Given the description of an element on the screen output the (x, y) to click on. 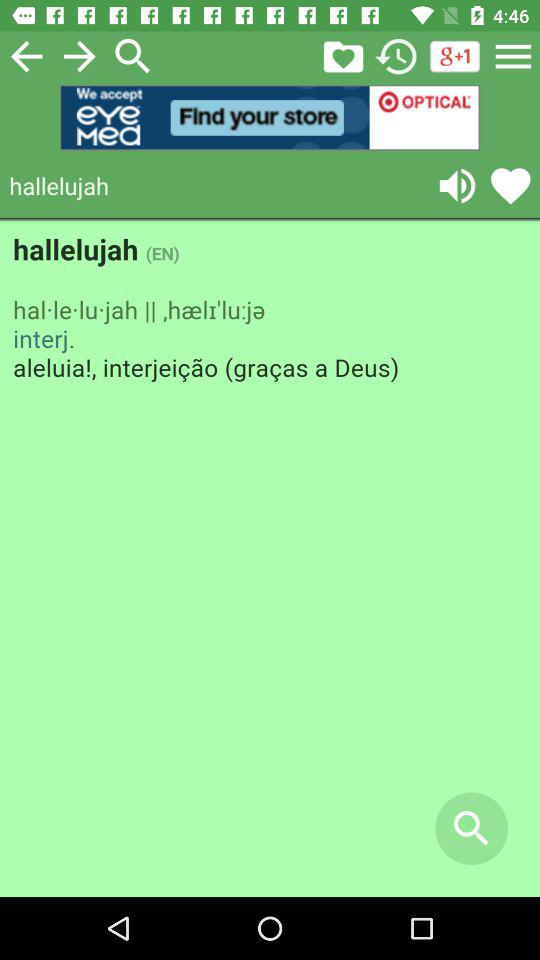
more options (513, 56)
